Given the description of an element on the screen output the (x, y) to click on. 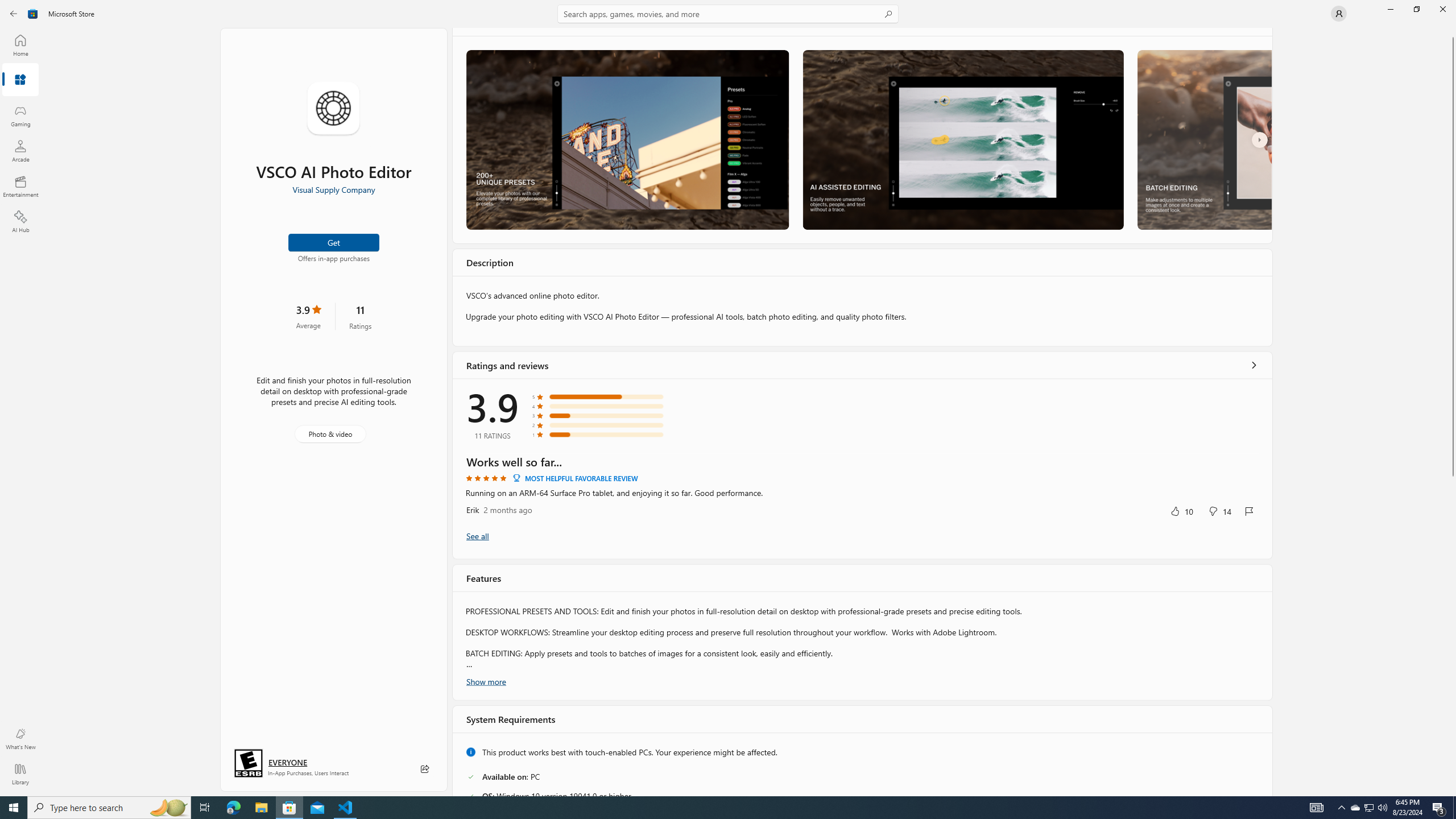
What's New (20, 738)
Arcade (20, 150)
Show all ratings and reviews (477, 209)
AI Hub (20, 221)
Photosensitive seizure warning (695, 772)
Search (727, 13)
Vertical Large Increase (1452, 732)
Show less (482, 554)
Library (20, 773)
Restore Microsoft Store (1416, 9)
Vertical Large Decrease (1452, 134)
Visual Supply Company (522, 639)
Minimize Microsoft Store (1390, 9)
Vertical Small Decrease (1452, 31)
Vertical (1452, 412)
